Given the description of an element on the screen output the (x, y) to click on. 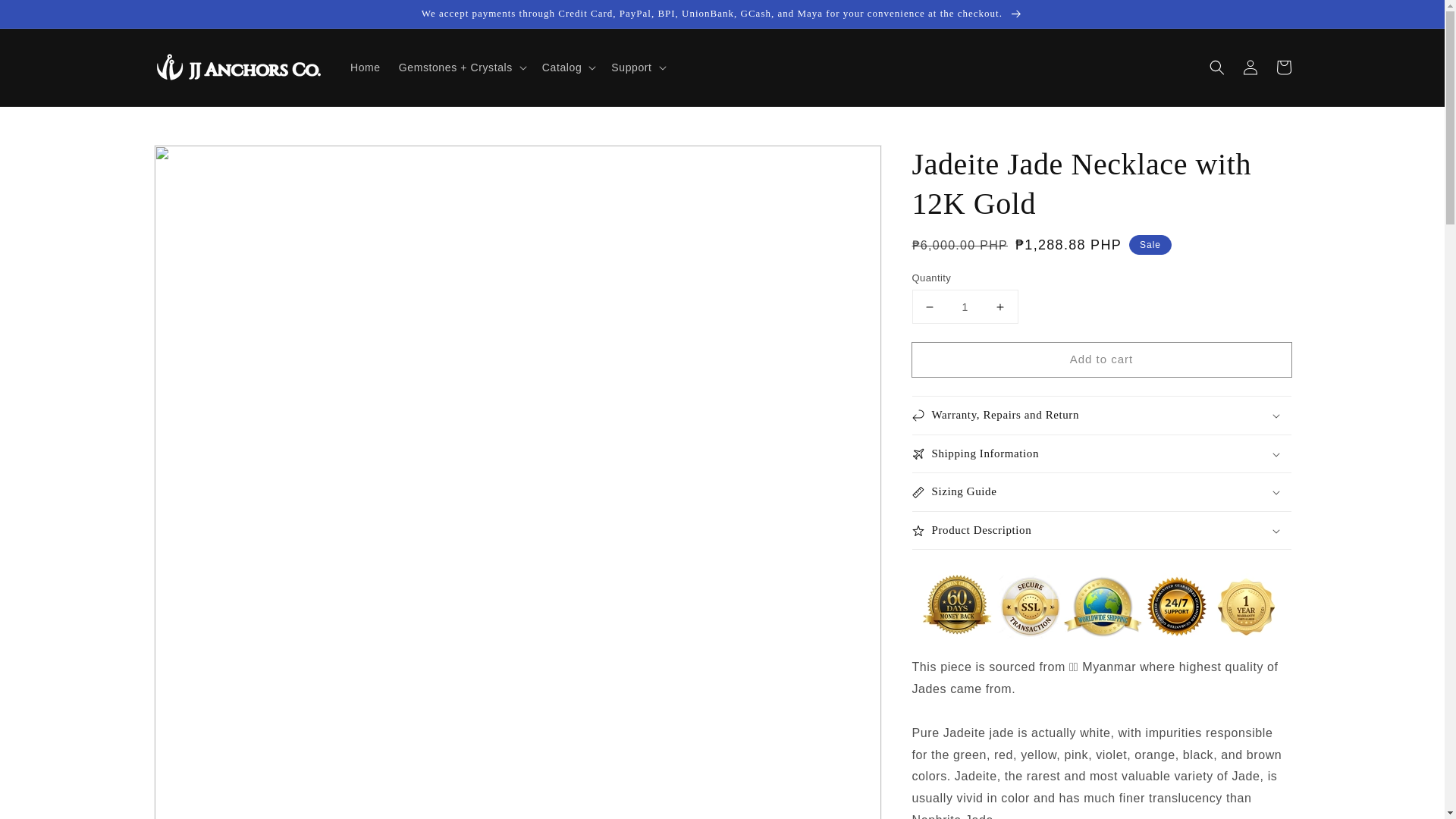
Home (365, 67)
Skip to content (45, 16)
1 (964, 306)
